Given the description of an element on the screen output the (x, y) to click on. 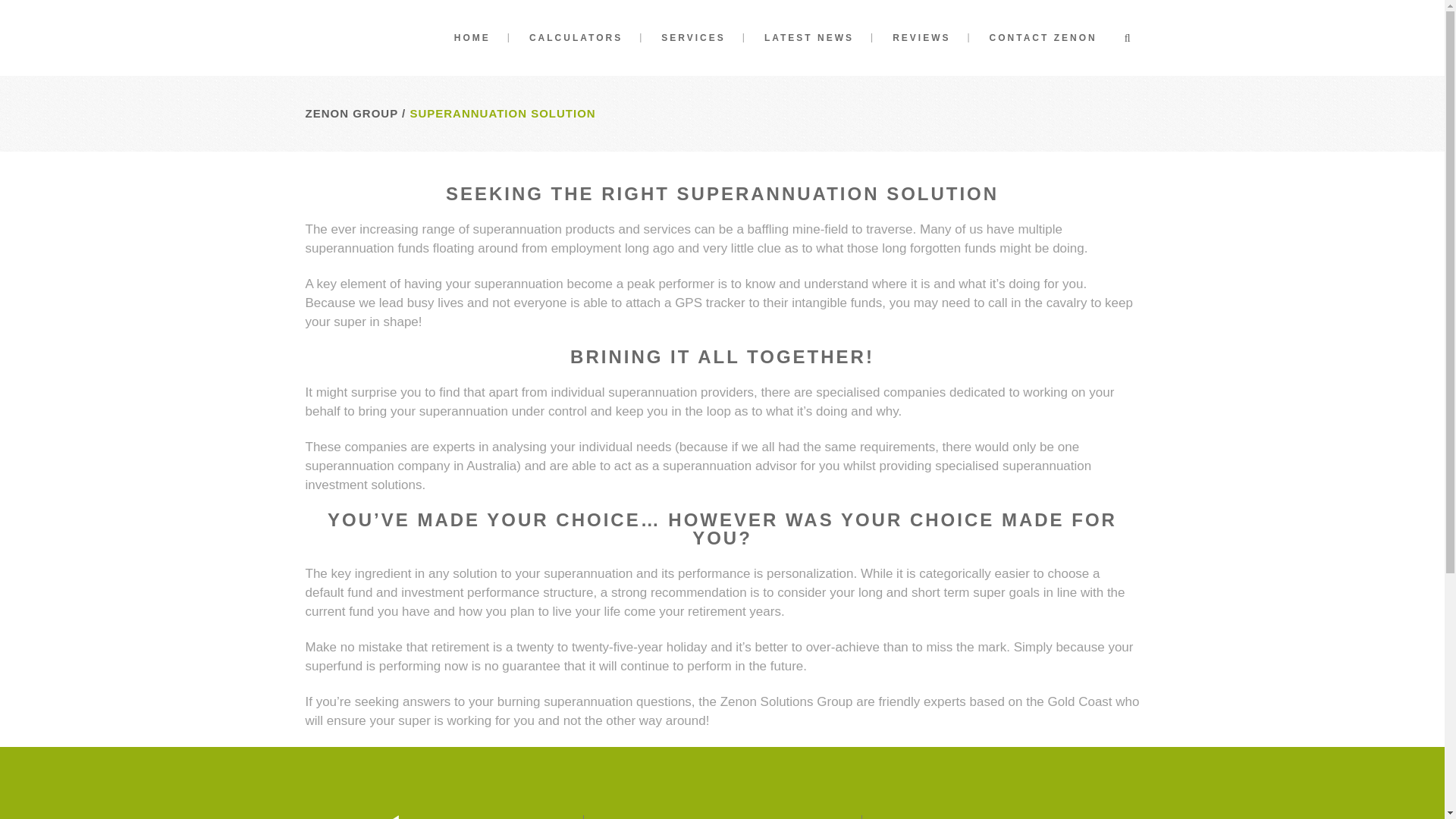
SERVICES (692, 38)
HOME (471, 38)
CALCULATORS (575, 38)
CONTACT ZENON (1043, 38)
ZENON GROUP (350, 113)
LATEST NEWS (808, 38)
REVIEWS (921, 38)
